Given the description of an element on the screen output the (x, y) to click on. 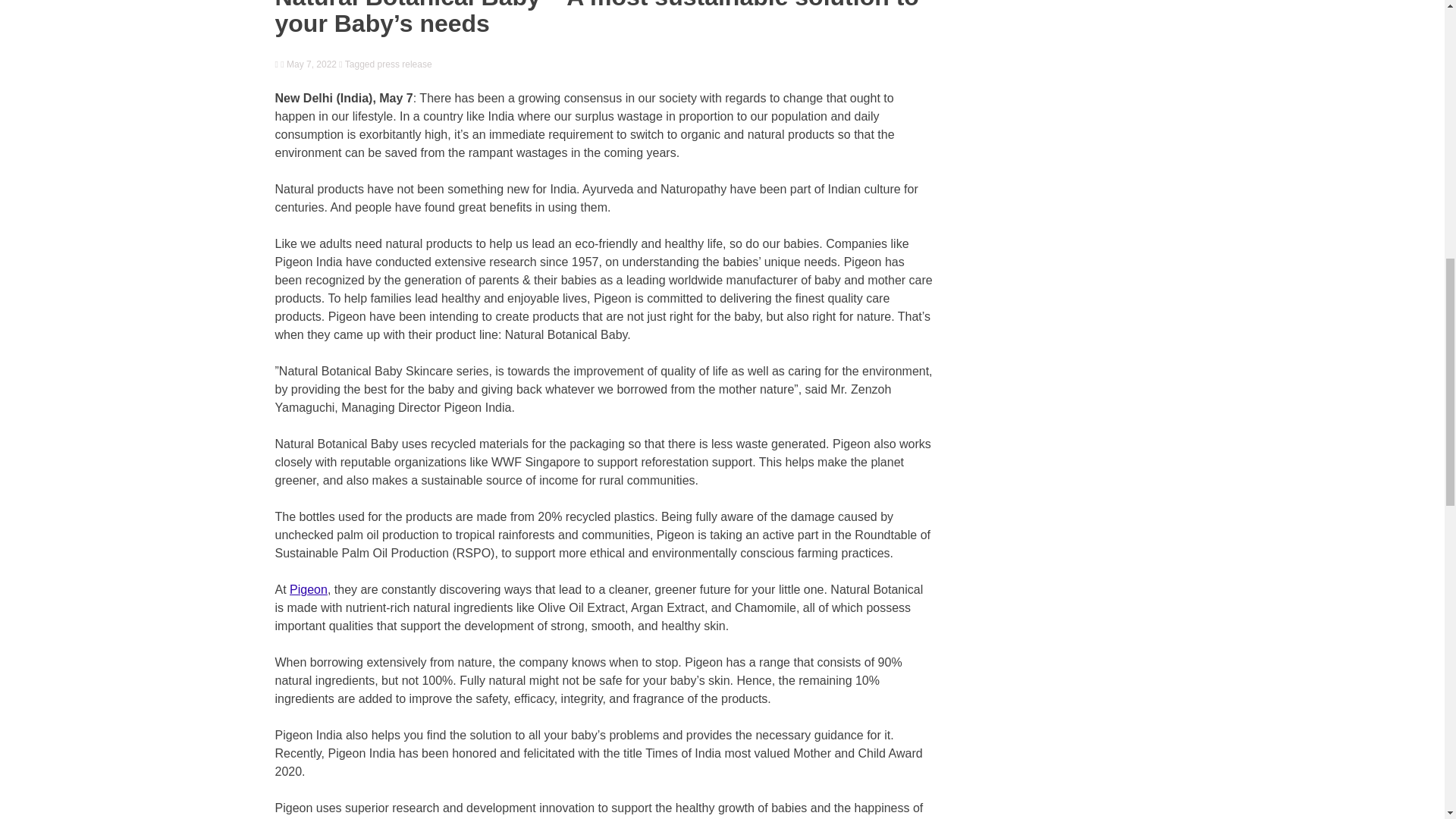
Pigeon (308, 589)
press release (404, 63)
May 7, 2022 (308, 64)
